Given the description of an element on the screen output the (x, y) to click on. 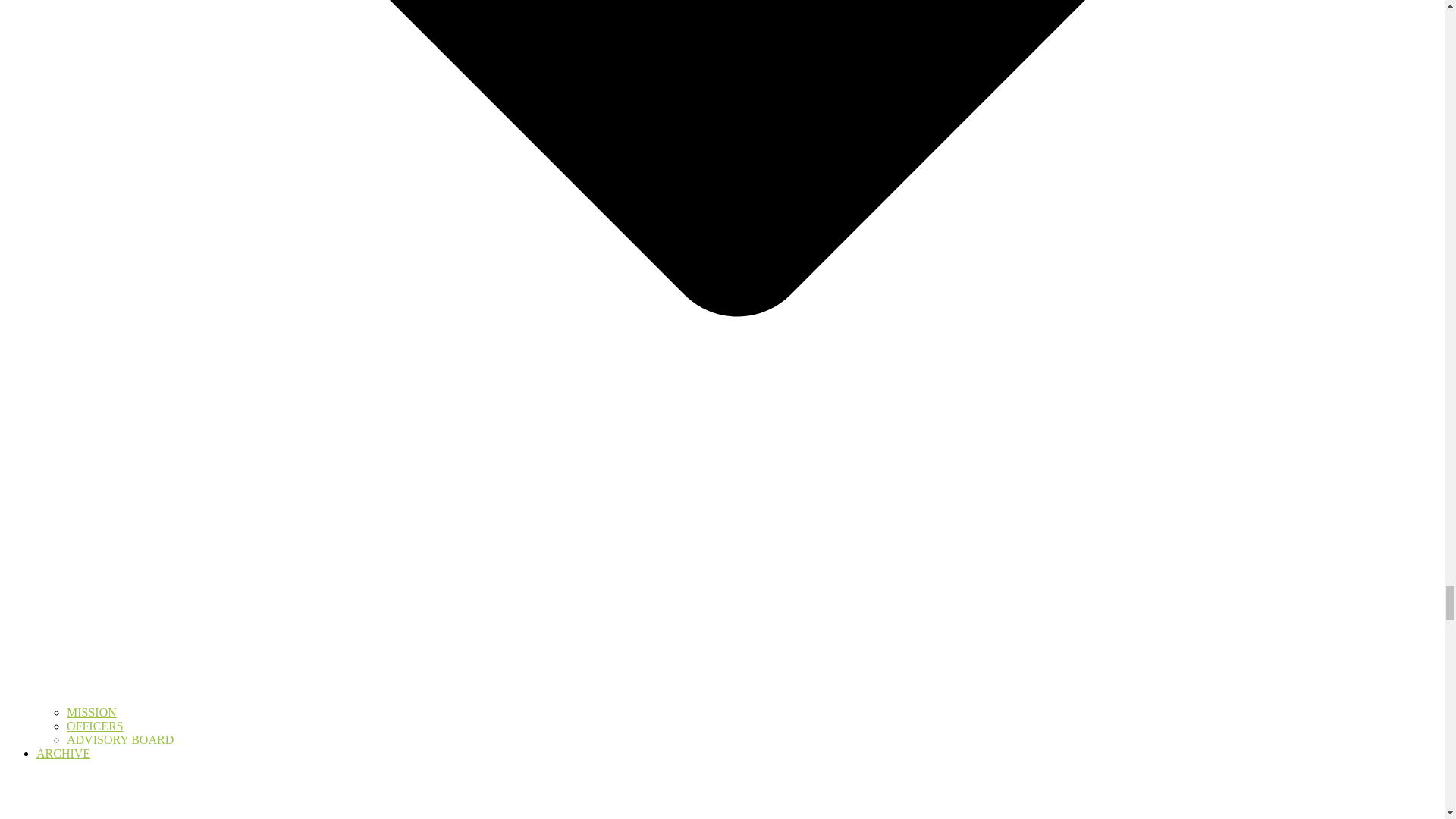
ADVISORY BOARD (119, 739)
OFFICERS (94, 725)
MISSION (91, 712)
